Given the description of an element on the screen output the (x, y) to click on. 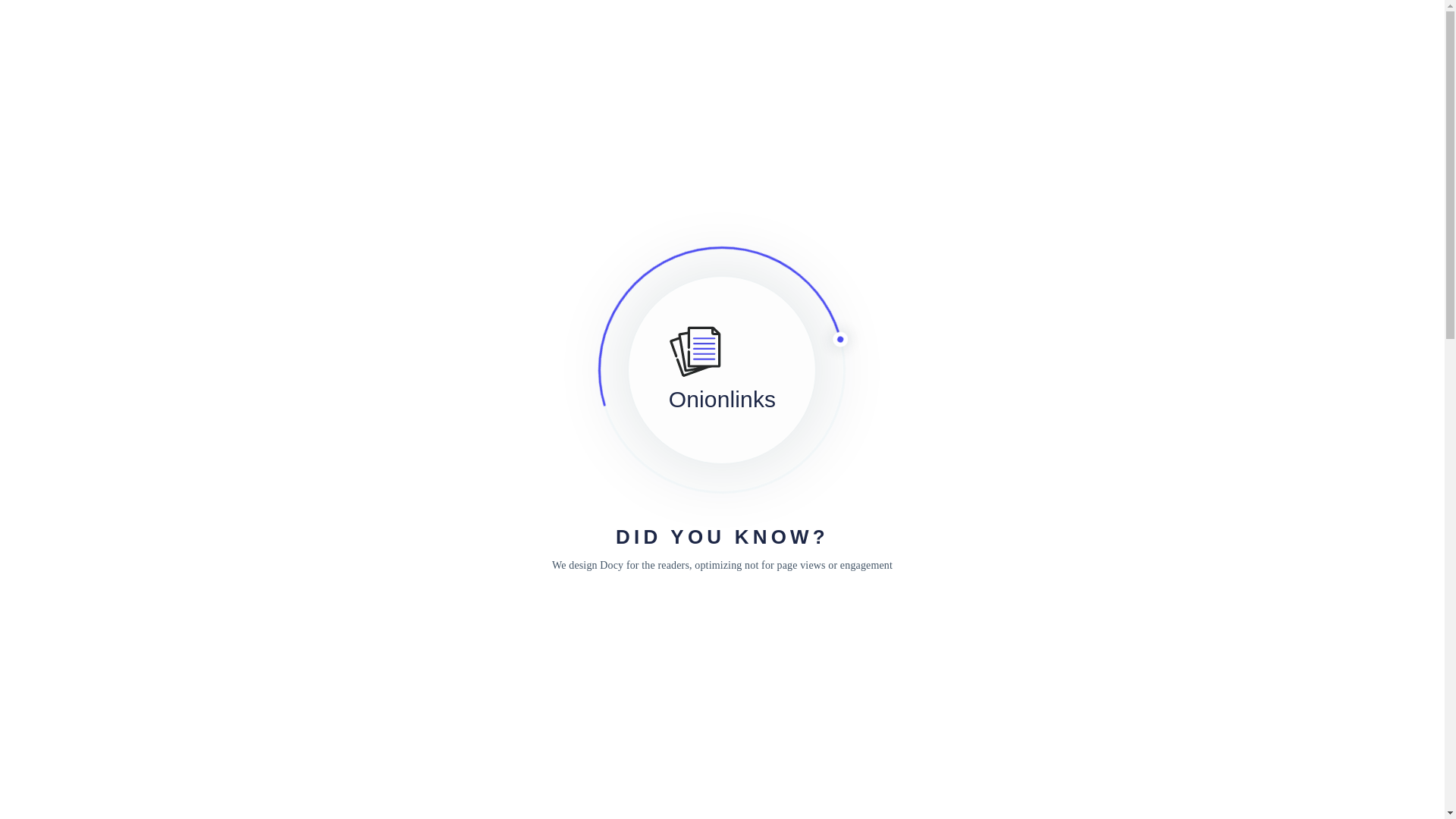
Reddit Wiki (197, 132)
Reddit Wiki (220, 30)
All Porn Sites (892, 416)
